Given the description of an element on the screen output the (x, y) to click on. 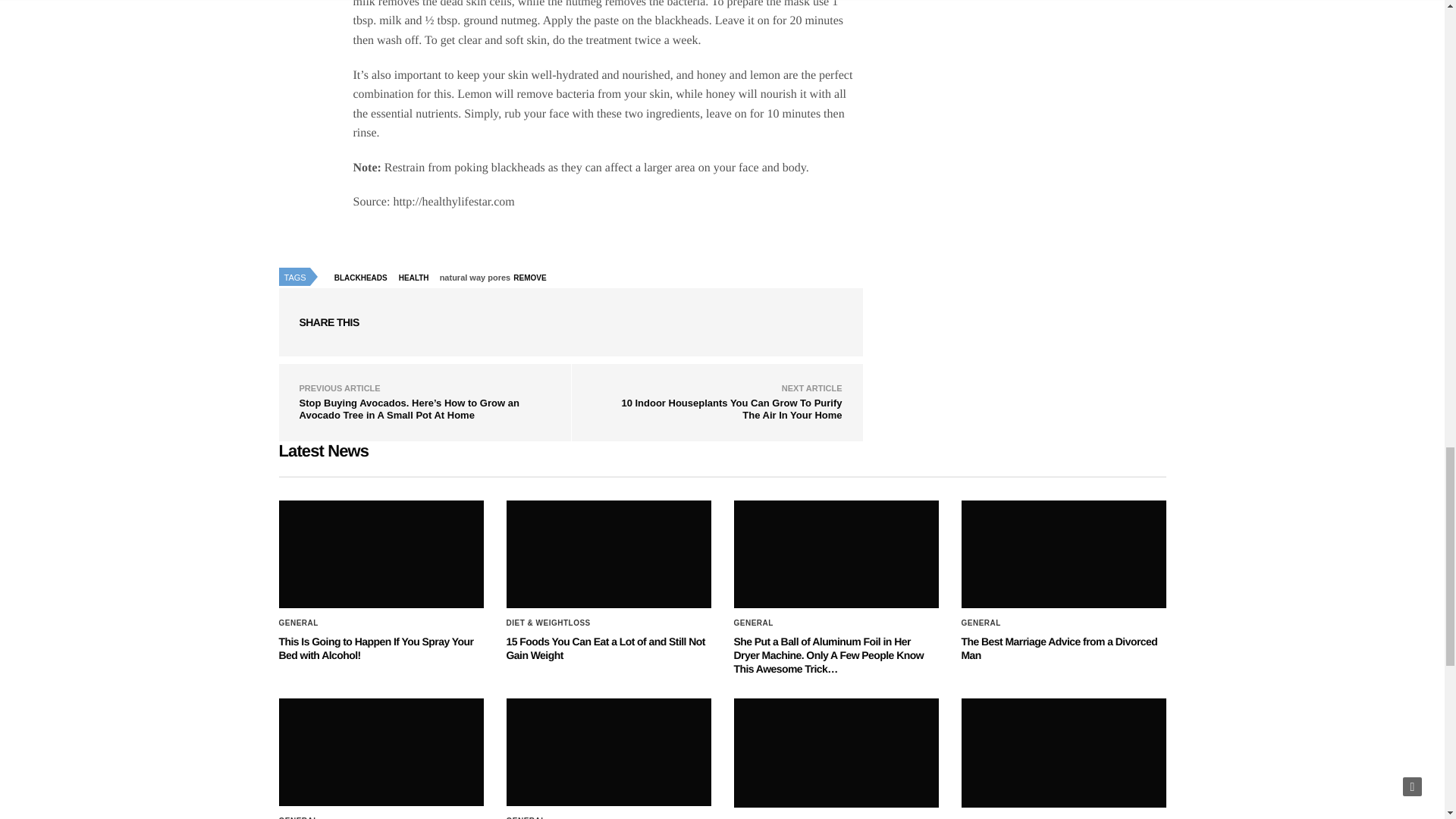
This Is Going to Happen If You Spray Your Bed with Alcohol! (376, 647)
GENERAL (980, 623)
GENERAL (753, 623)
BLACKHEADS (364, 277)
GENERAL (298, 623)
This Is Going to Happen If You Spray Your Bed with Alcohol! (381, 554)
15 Foods You Can Eat a Lot of and Still Not Gain Weight (605, 647)
General (298, 623)
HEALTH (417, 277)
